Given the description of an element on the screen output the (x, y) to click on. 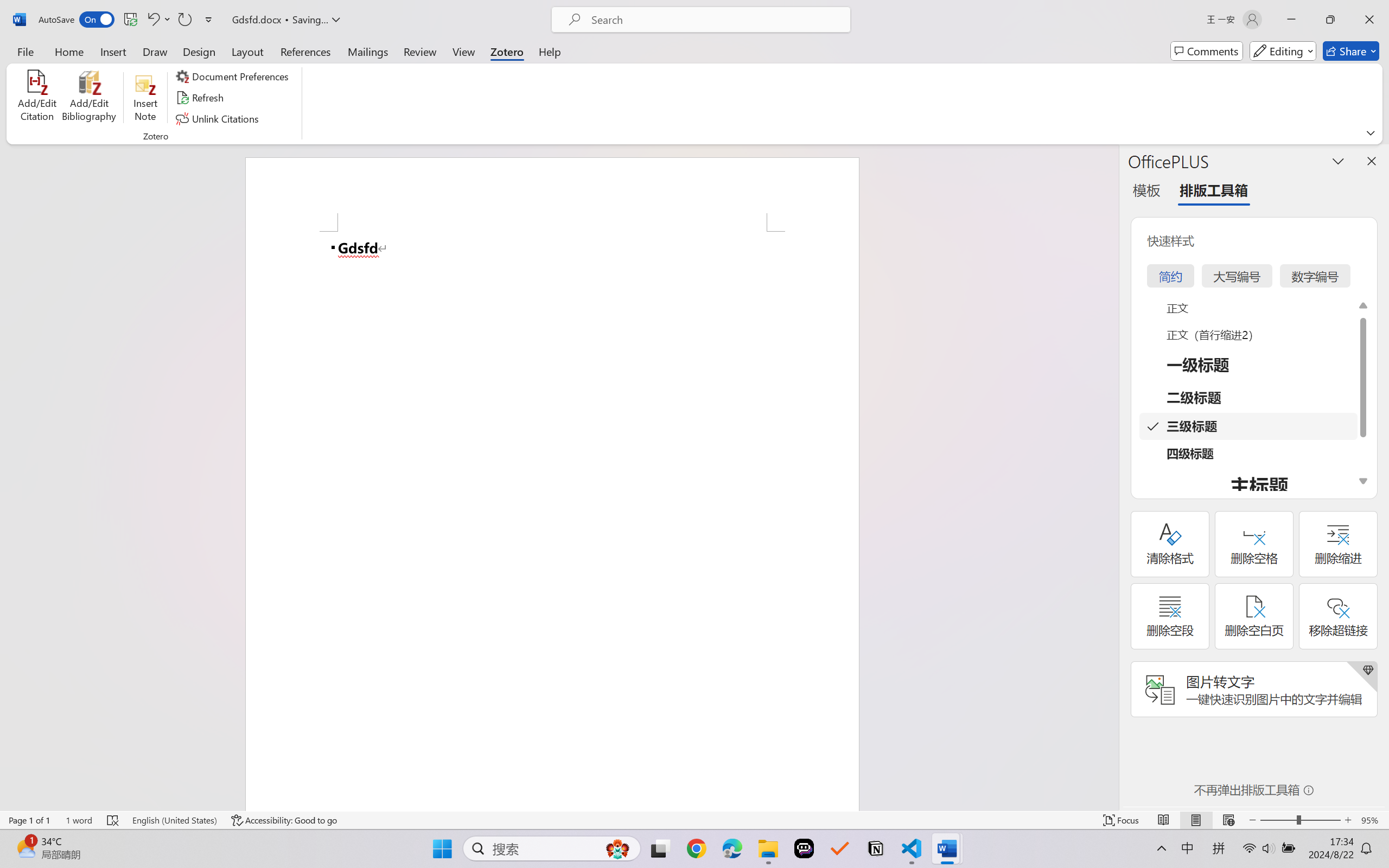
Page 1 content (552, 520)
Can't Repeat (184, 19)
